Given the description of an element on the screen output the (x, y) to click on. 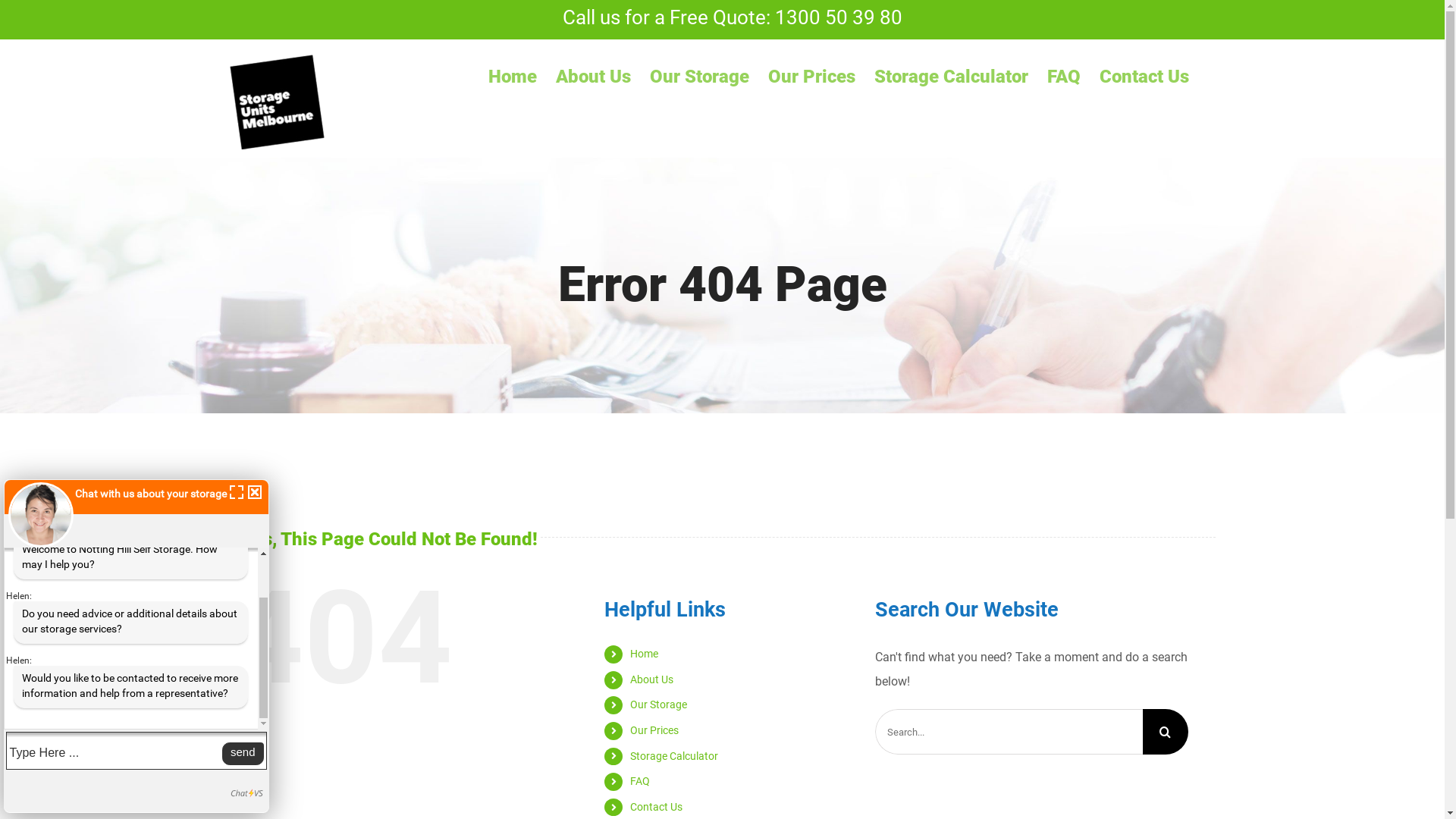
About Us Element type: text (592, 75)
Our Storage Element type: text (658, 704)
Storage Calculator Element type: text (950, 75)
Contact Us Element type: text (1144, 75)
FAQ Element type: text (1062, 75)
Home Element type: text (512, 75)
FAQ Element type: text (639, 781)
Storage Calculator Element type: text (674, 755)
Call us for a Free Quote: 1300 50 39 80 Element type: text (722, 17)
Our Prices Element type: text (654, 730)
Our Storage Element type: text (698, 75)
Contact Us Element type: text (656, 806)
About Us Element type: text (651, 679)
Home Element type: text (644, 653)
chat bot window Element type: hover (136, 645)
Our Prices Element type: text (810, 75)
